Given the description of an element on the screen output the (x, y) to click on. 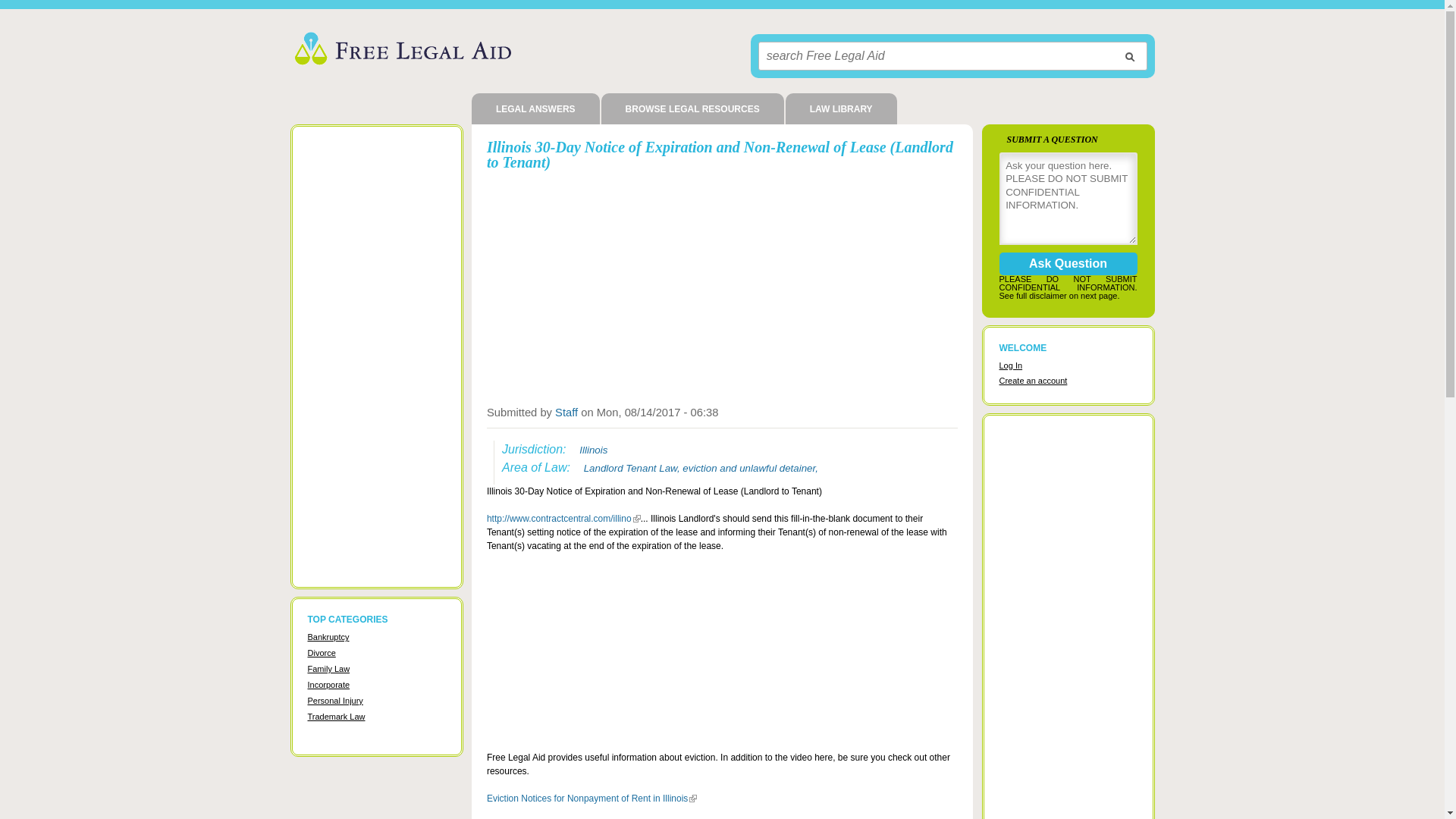
Advertisement (722, 285)
Enter the terms you wish to search for. (952, 55)
Personal Injury (334, 700)
Bankruptcy (328, 636)
Free Family Legal Help (328, 668)
Landlord Tenant Law (632, 468)
Create an account (1032, 379)
Free Bankruptcy Legal Help (328, 636)
Divorce (321, 652)
Ask Question (1067, 264)
LEGAL ANSWERS (535, 108)
Illinois (594, 449)
Search (1128, 56)
Ask Question (1067, 264)
